Given the description of an element on the screen output the (x, y) to click on. 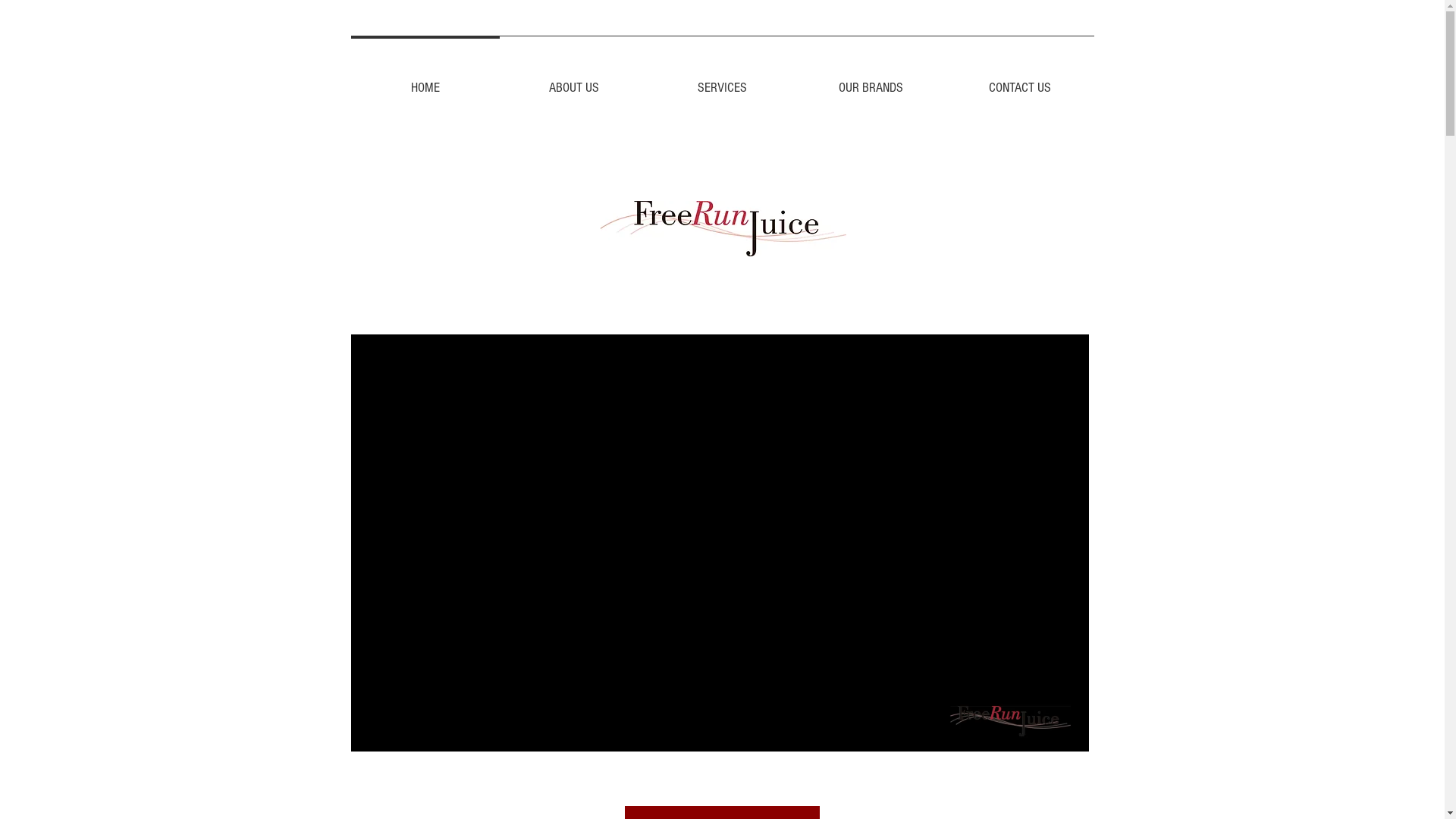
FRJ Logo.jpg Element type: hover (723, 228)
OUR BRANDS Element type: text (870, 80)
HOME Element type: text (424, 80)
ABOUT US Element type: text (572, 80)
SERVICES Element type: text (721, 80)
CONTACT US Element type: text (1018, 80)
